Given the description of an element on the screen output the (x, y) to click on. 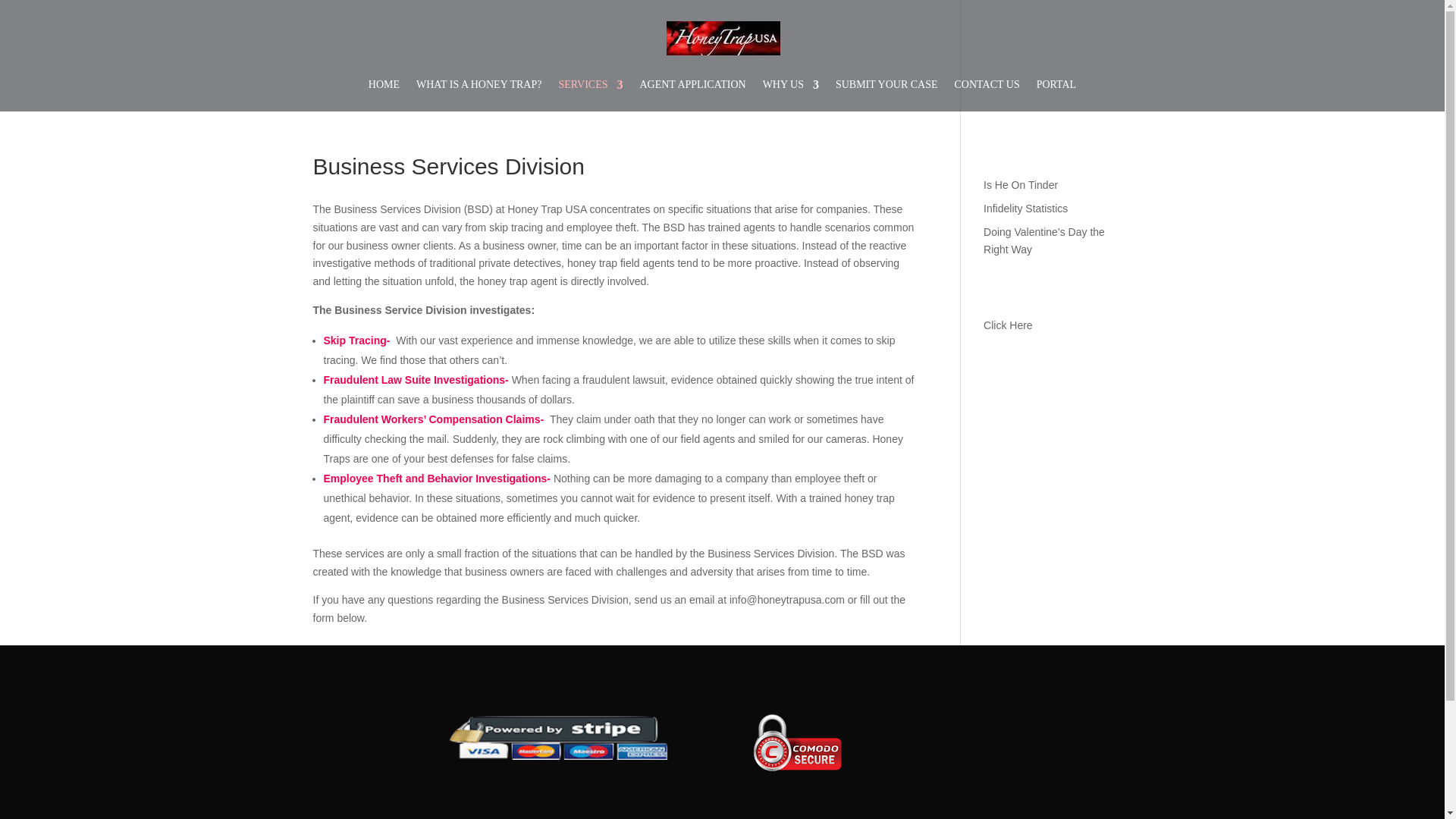
SERVICES (590, 95)
AGENT APPLICATION (692, 95)
WHY US (790, 95)
CONTACT US (987, 95)
WHAT IS A HONEY TRAP? (478, 95)
PORTAL (1056, 95)
Skip Tracing (356, 340)
SUBMIT YOUR CASE (886, 95)
HOME (383, 95)
